Given the description of an element on the screen output the (x, y) to click on. 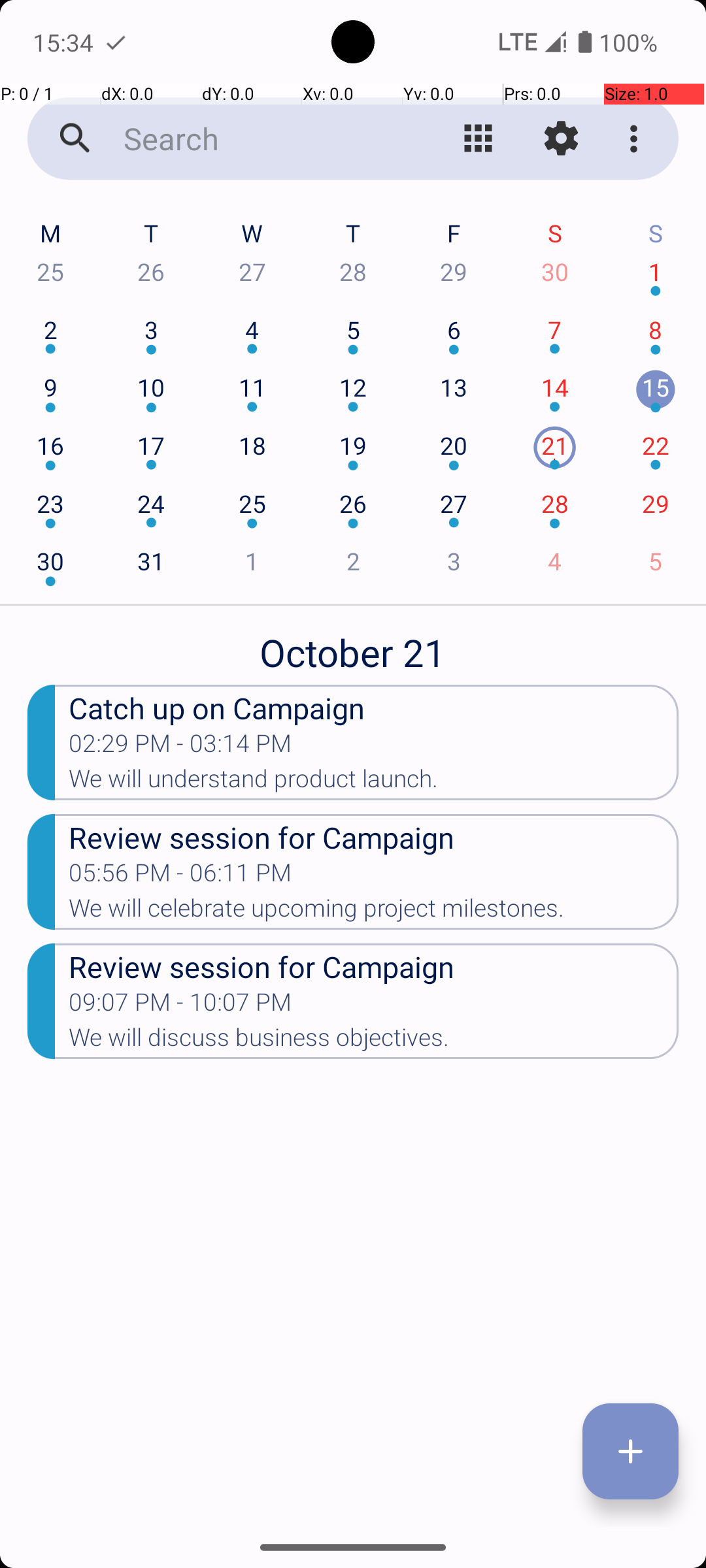
October 21 Element type: android.widget.TextView (352, 644)
02:29 PM - 03:14 PM Element type: android.widget.TextView (179, 747)
We will understand product launch. Element type: android.widget.TextView (373, 782)
05:56 PM - 06:11 PM Element type: android.widget.TextView (179, 876)
We will celebrate upcoming project milestones. Element type: android.widget.TextView (373, 911)
09:07 PM - 10:07 PM Element type: android.widget.TextView (179, 1005)
We will discuss business objectives. Element type: android.widget.TextView (373, 1041)
